Given the description of an element on the screen output the (x, y) to click on. 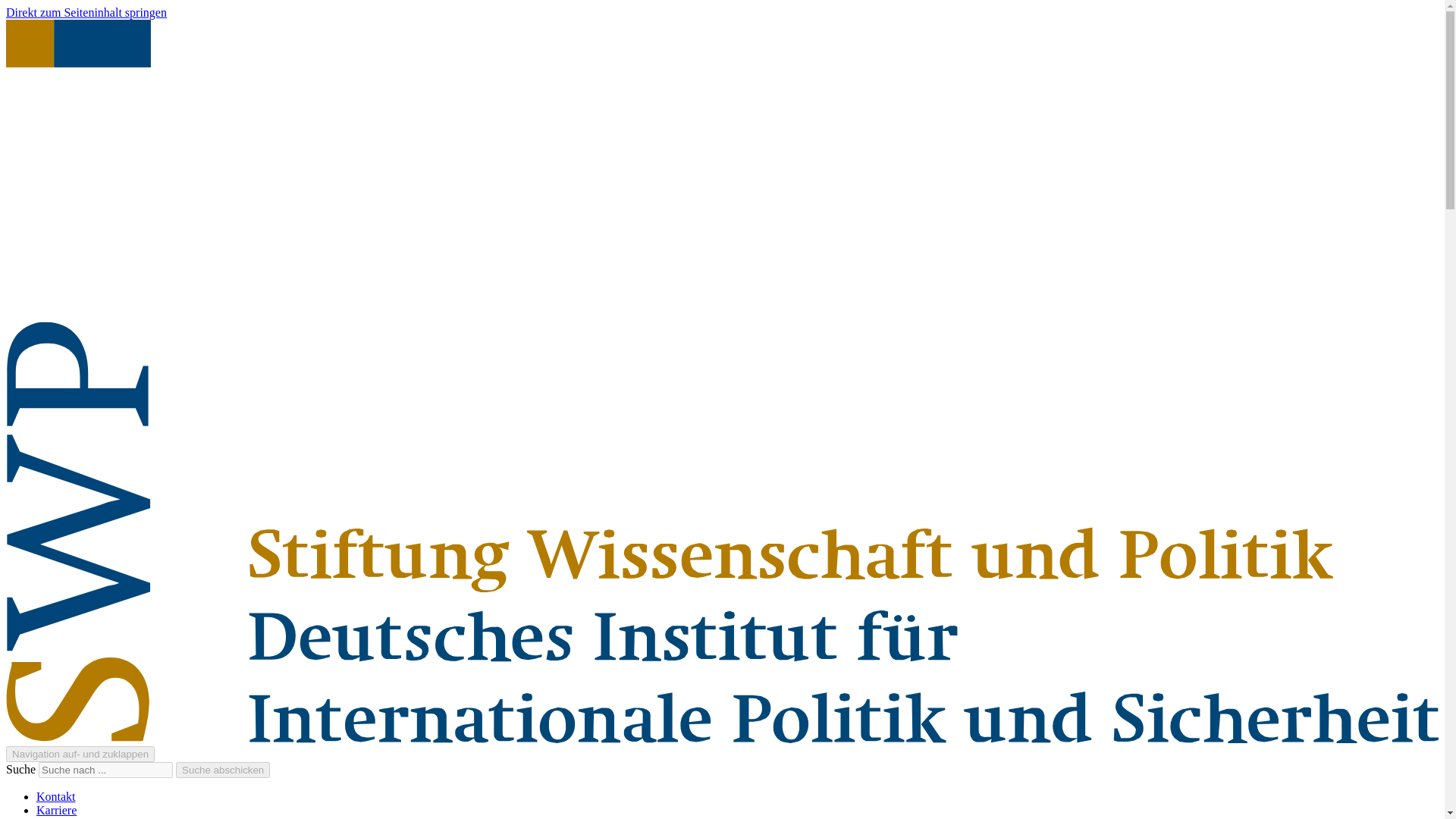
Navigation auf- und zuklappen (79, 754)
Suche abschicken (222, 770)
Karriere (56, 809)
Presse (51, 818)
Kontakt (55, 796)
Direkt zum Seiteninhalt springen (86, 11)
